Given the description of an element on the screen output the (x, y) to click on. 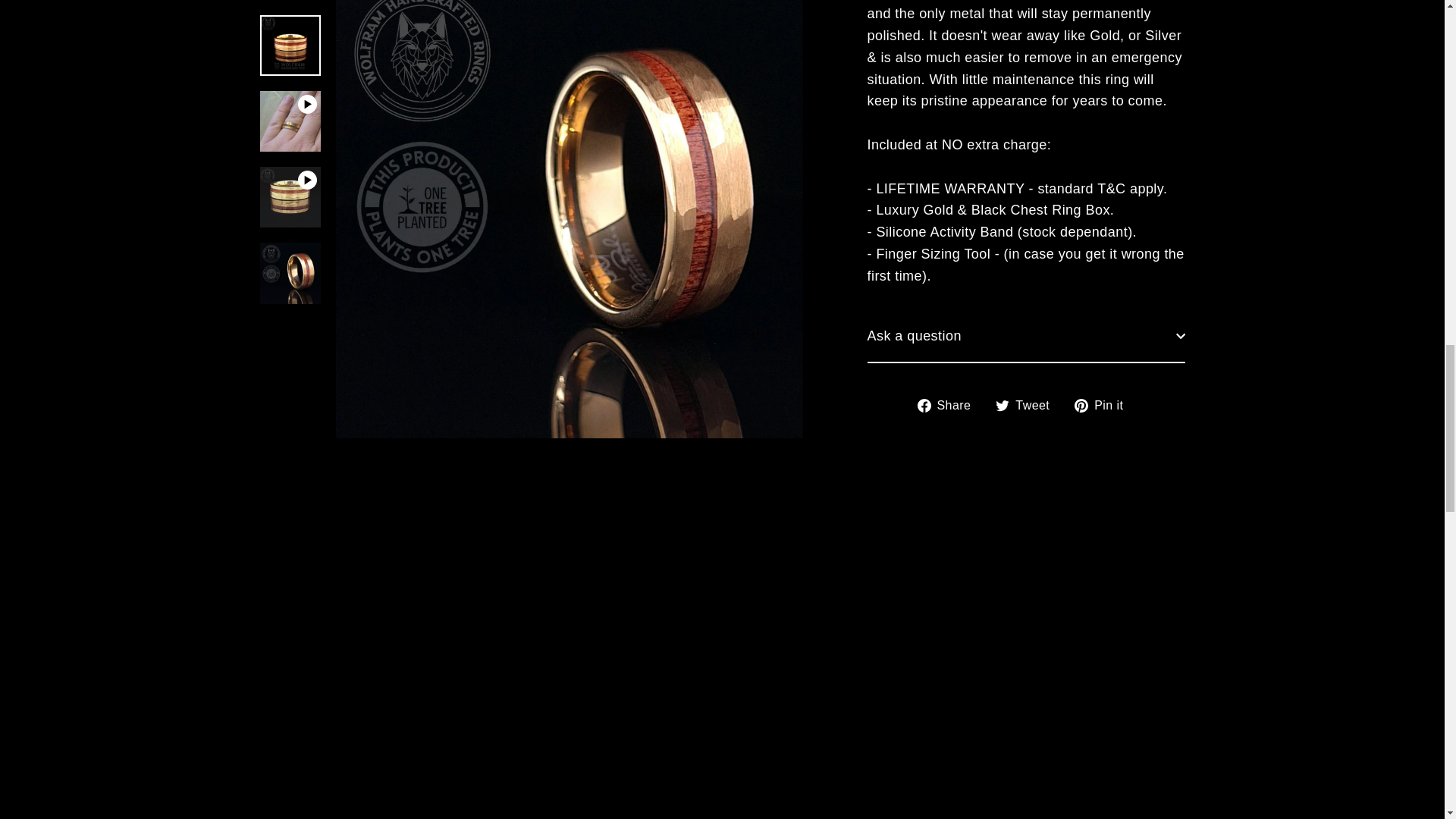
twitter (1002, 196)
Pin on Pinterest (1104, 196)
Share on Facebook (949, 196)
Tweet on Twitter (1028, 196)
